Given the description of an element on the screen output the (x, y) to click on. 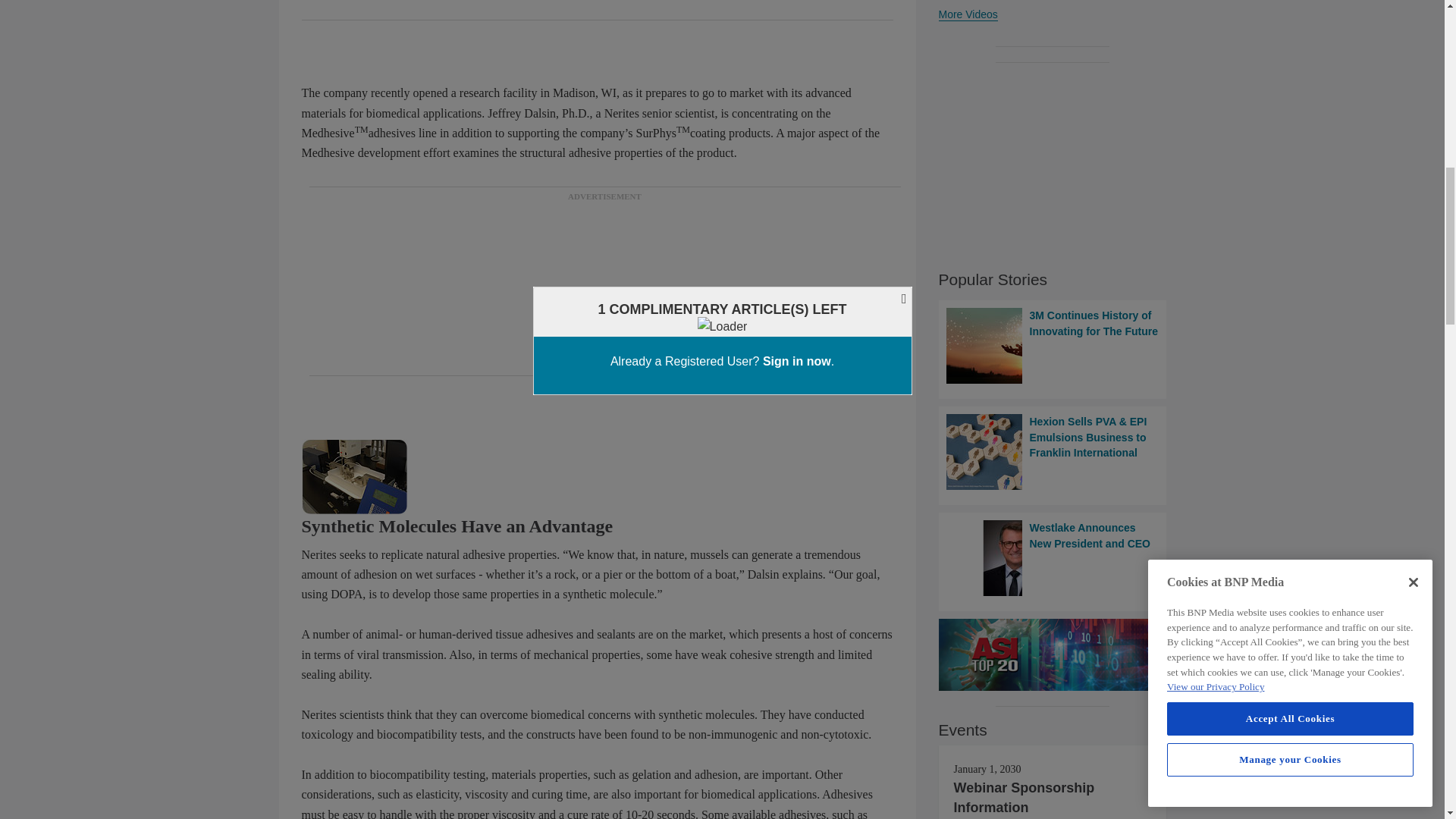
Webinar Sponsorship Information (1023, 797)
Westlake Announces New President and CEO (1052, 558)
3M Continues History of Innovating for The Future (1052, 345)
